Given the description of an element on the screen output the (x, y) to click on. 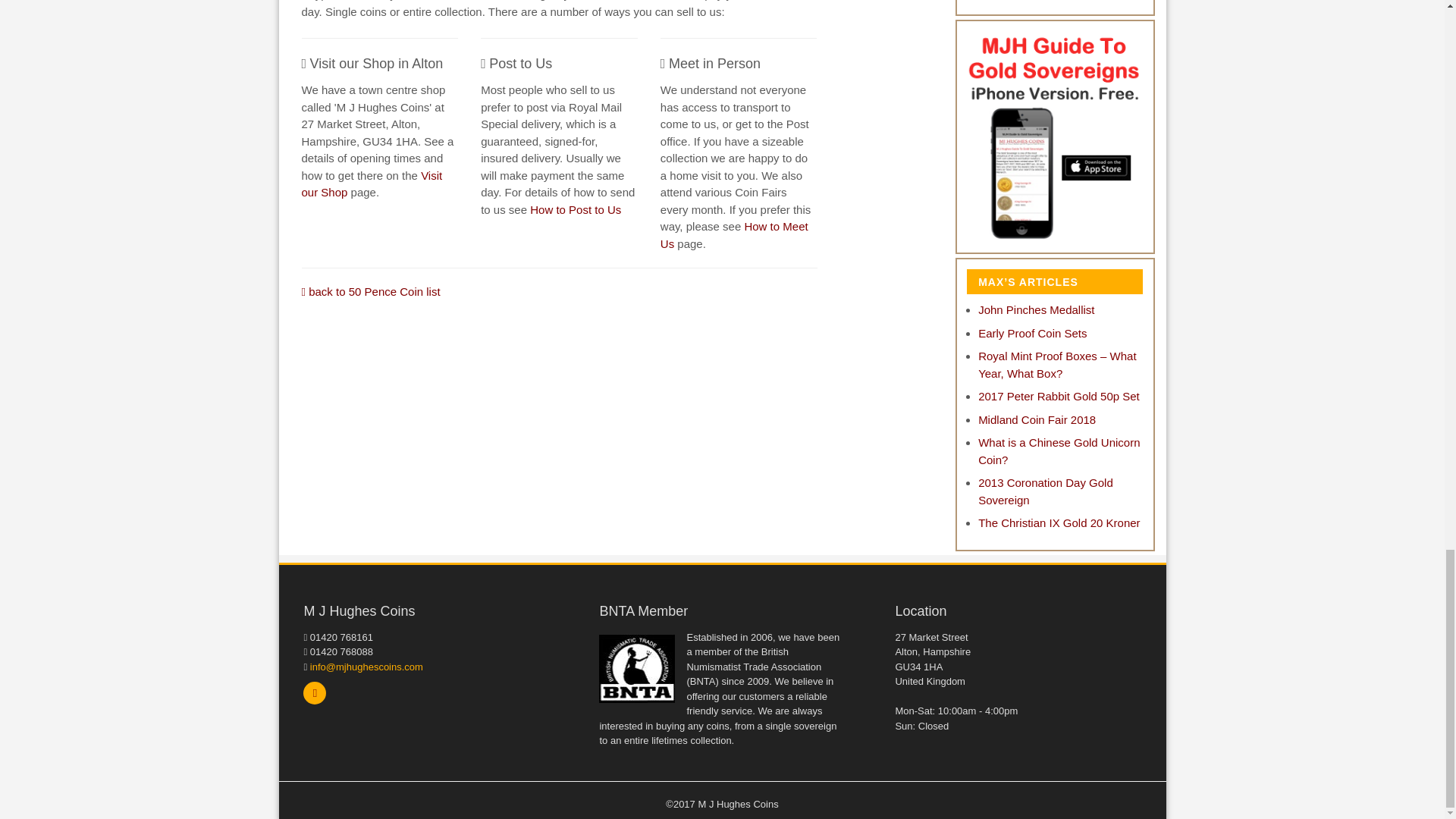
Visit our Shop (371, 183)
How to Meet Us (734, 235)
back to 50 Pence Coin list (371, 291)
How to Post to Us (575, 209)
